Given the description of an element on the screen output the (x, y) to click on. 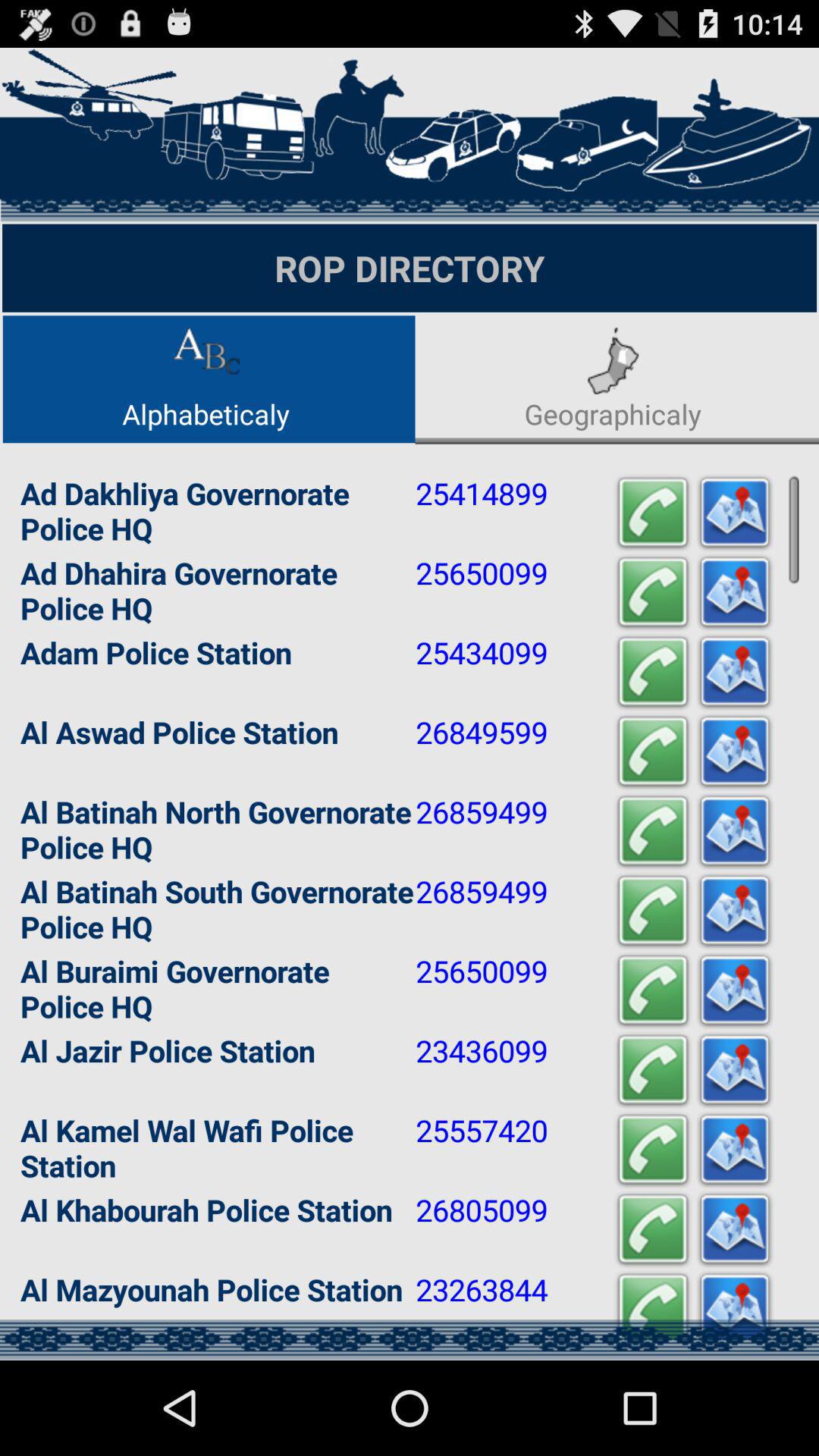
start a call with selected contact (652, 1149)
